Given the description of an element on the screen output the (x, y) to click on. 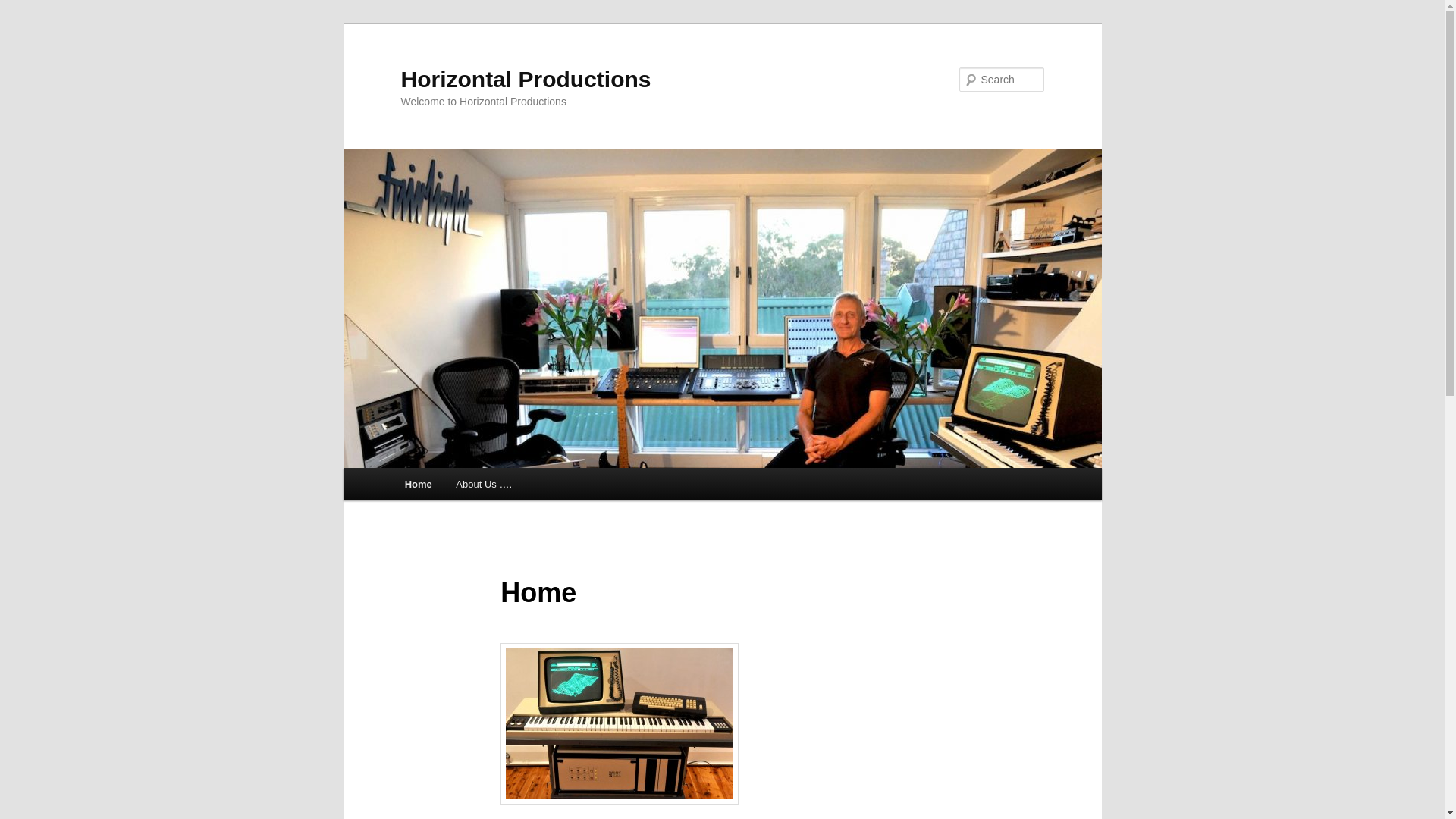
Search Element type: text (24, 8)
Skip to primary content Element type: text (472, 486)
Skip to secondary content Element type: text (479, 486)
Horizontal Productions Element type: text (525, 78)
Search Element type: text (20, 10)
Home Element type: text (418, 483)
